Given the description of an element on the screen output the (x, y) to click on. 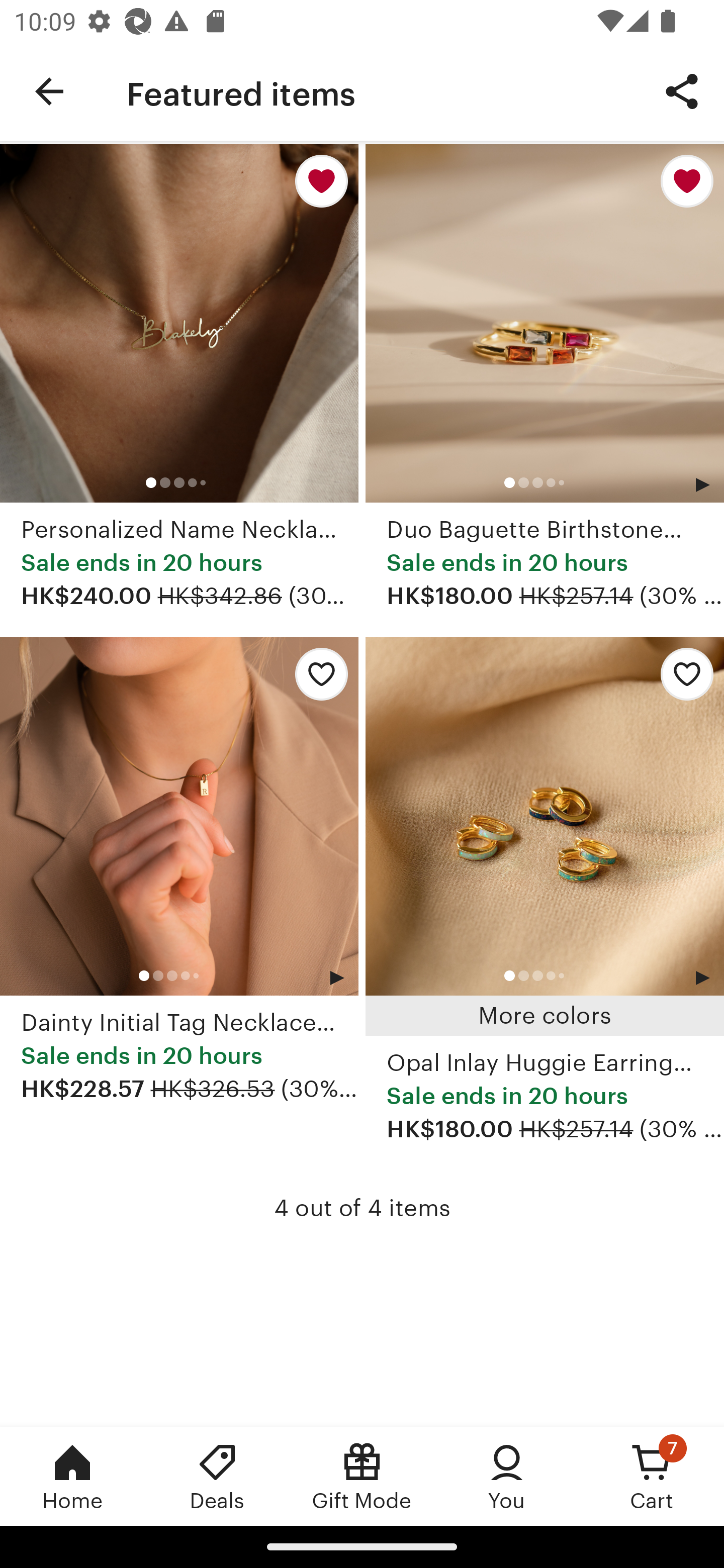
Navigate up (49, 91)
Share Button (681, 90)
Deals (216, 1475)
Gift Mode (361, 1475)
You (506, 1475)
Cart, 7 new notifications Cart (651, 1475)
